Given the description of an element on the screen output the (x, y) to click on. 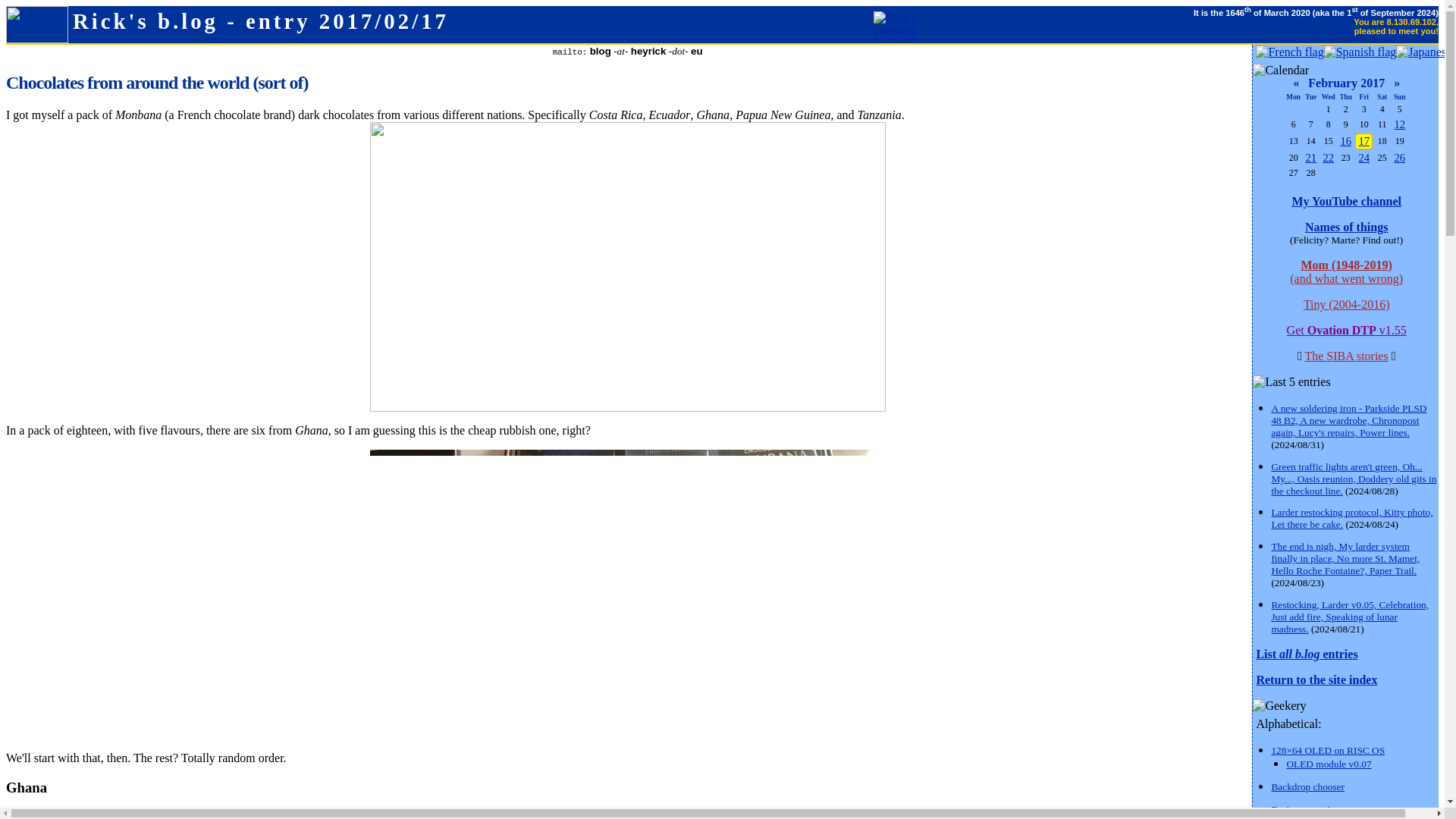
24 (1364, 157)
Poo, Samsung S7 night photo and USB OTG (1345, 141)
Last 5 entries (1291, 382)
17 (1364, 141)
List all b.log entries (1305, 653)
HD IP camera (1327, 157)
...with movement (1320, 817)
Argh! Hackers! Argh! (1310, 157)
Get Ovation DTP v1.55 (1346, 329)
